Given the description of an element on the screen output the (x, y) to click on. 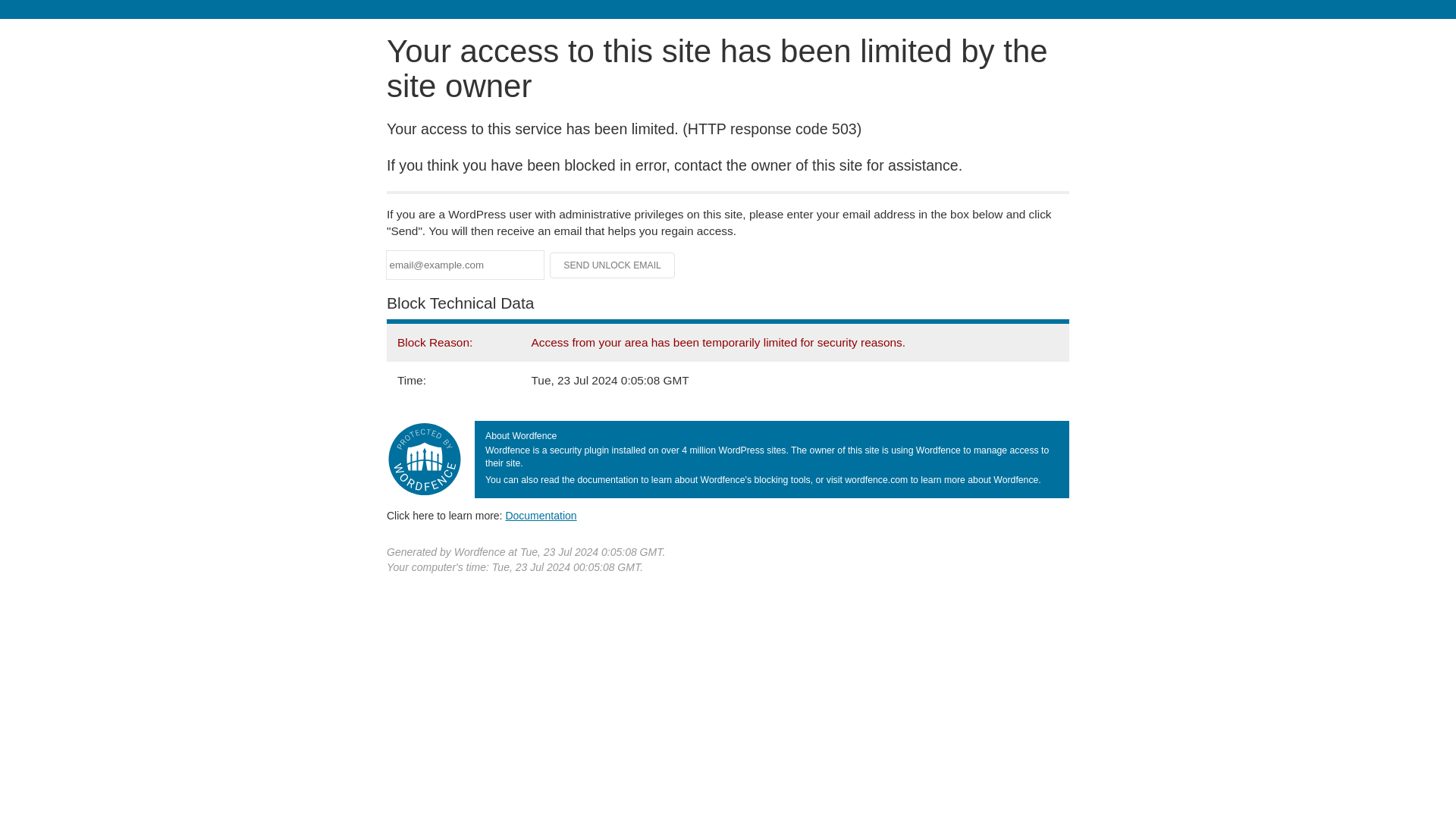
Send Unlock Email (612, 265)
Send Unlock Email (612, 265)
Documentation (540, 515)
